Given the description of an element on the screen output the (x, y) to click on. 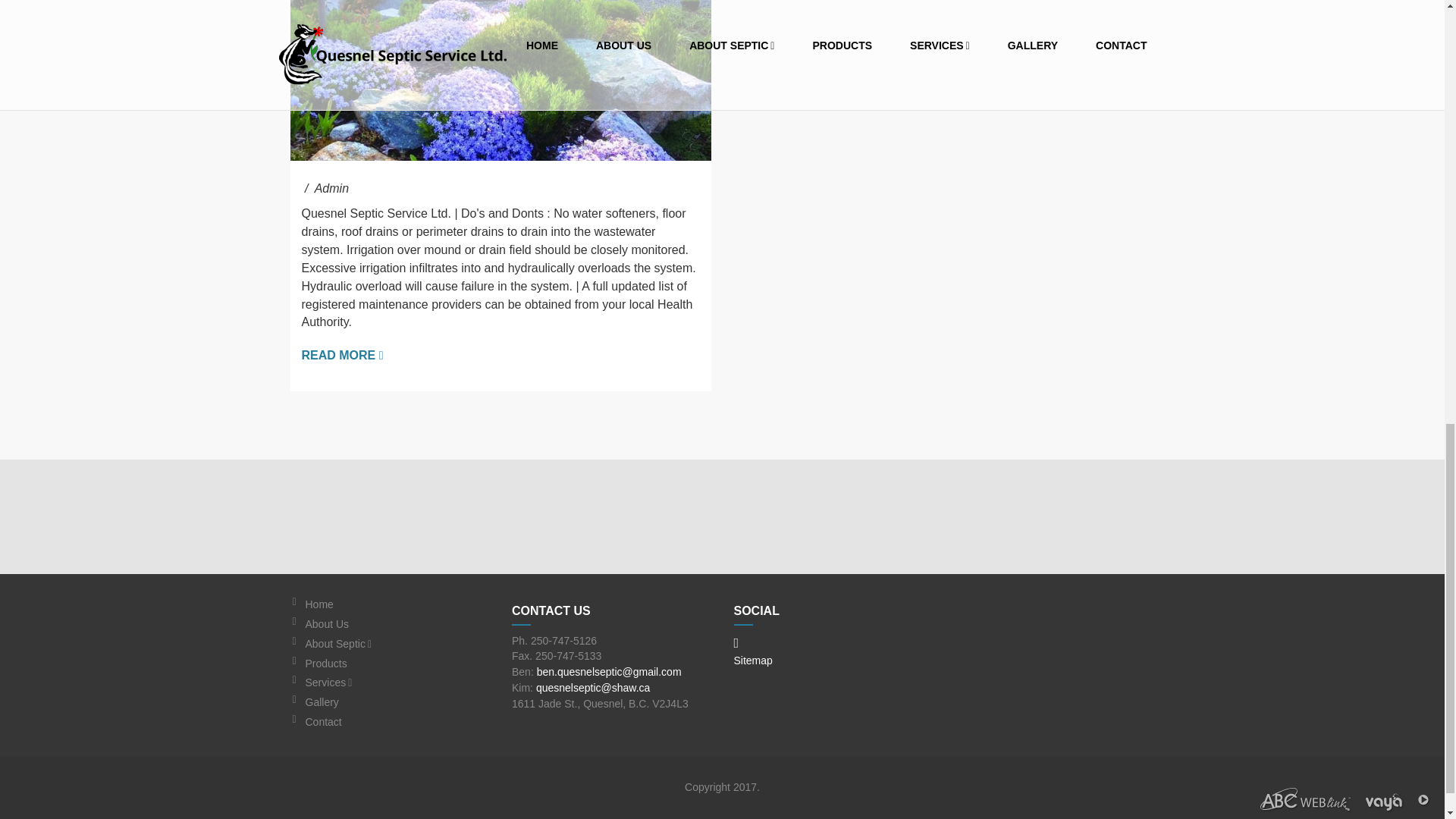
Products (396, 663)
Home (396, 604)
READ MORE (342, 354)
About Us (396, 624)
Services (396, 682)
About Septic (396, 643)
Facebook (736, 643)
